Given the description of an element on the screen output the (x, y) to click on. 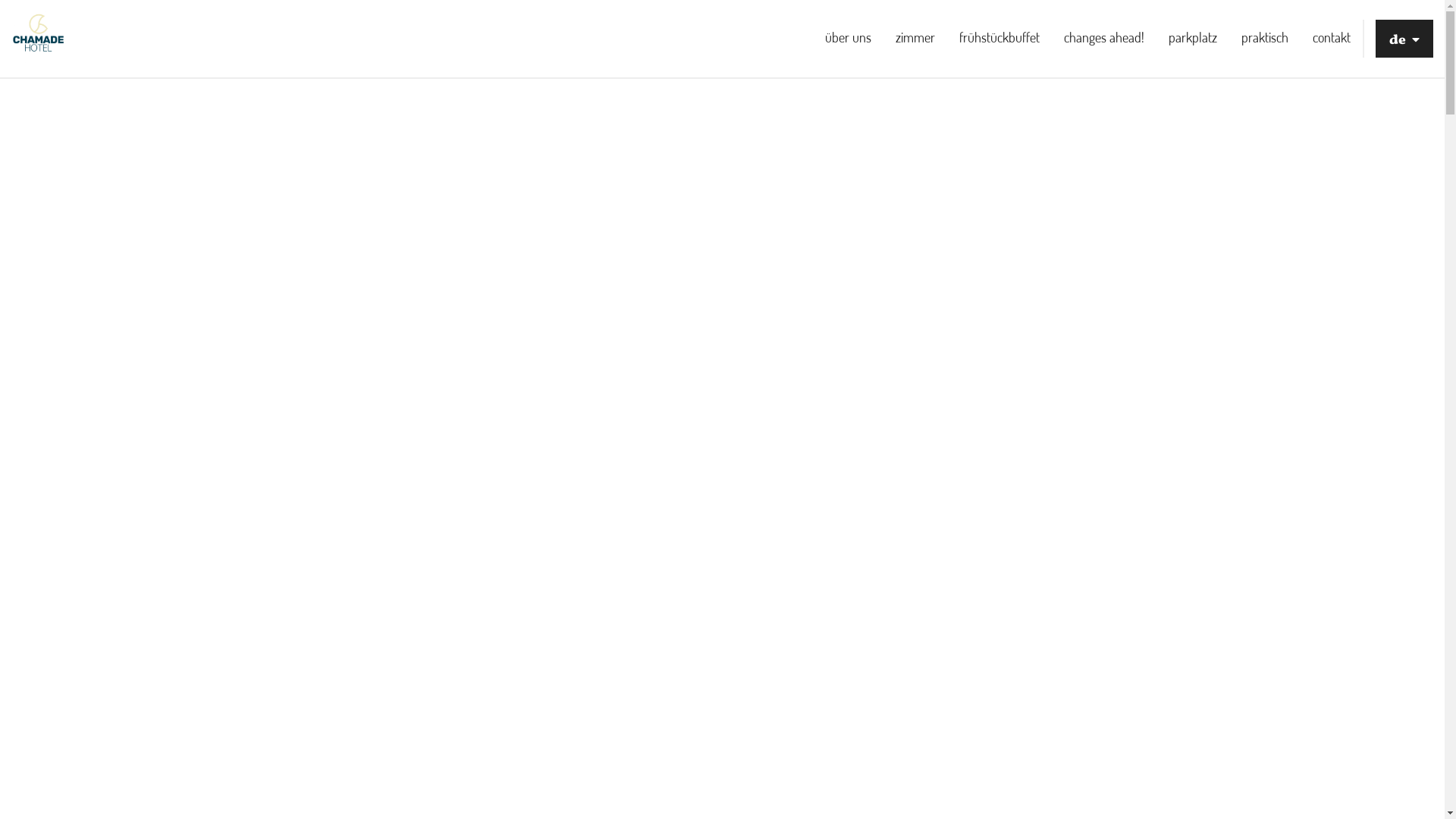
zimmer Element type: text (915, 36)
praktisch Element type: text (1264, 36)
changes ahead! Element type: text (1103, 36)
contakt Element type: text (1331, 36)
parkplatz Element type: text (1192, 36)
Hotel Chamade Element type: hover (38, 38)
